Given the description of an element on the screen output the (x, y) to click on. 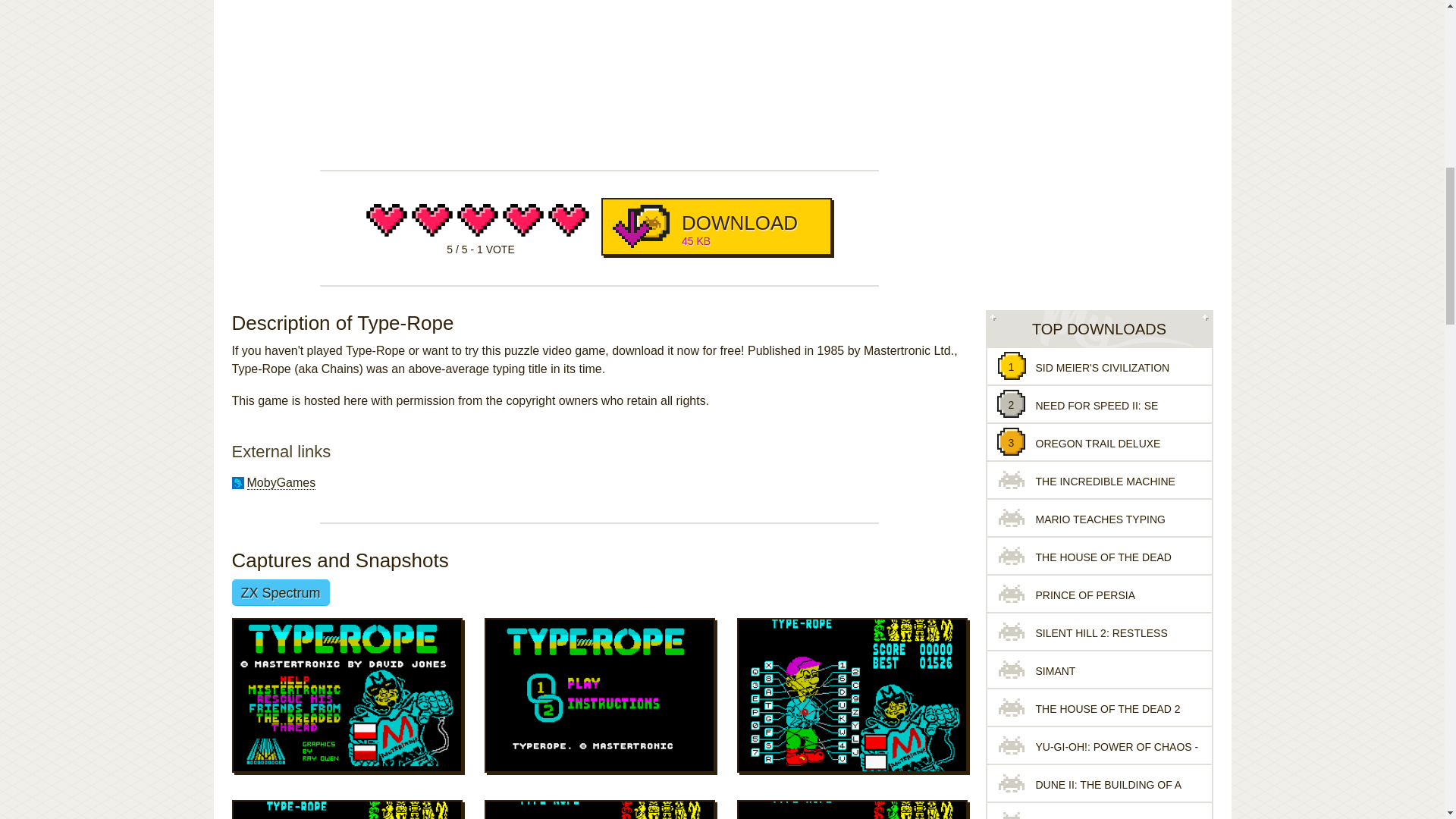
ZX Spectrum (280, 592)
MobyGames (281, 482)
